Given the description of an element on the screen output the (x, y) to click on. 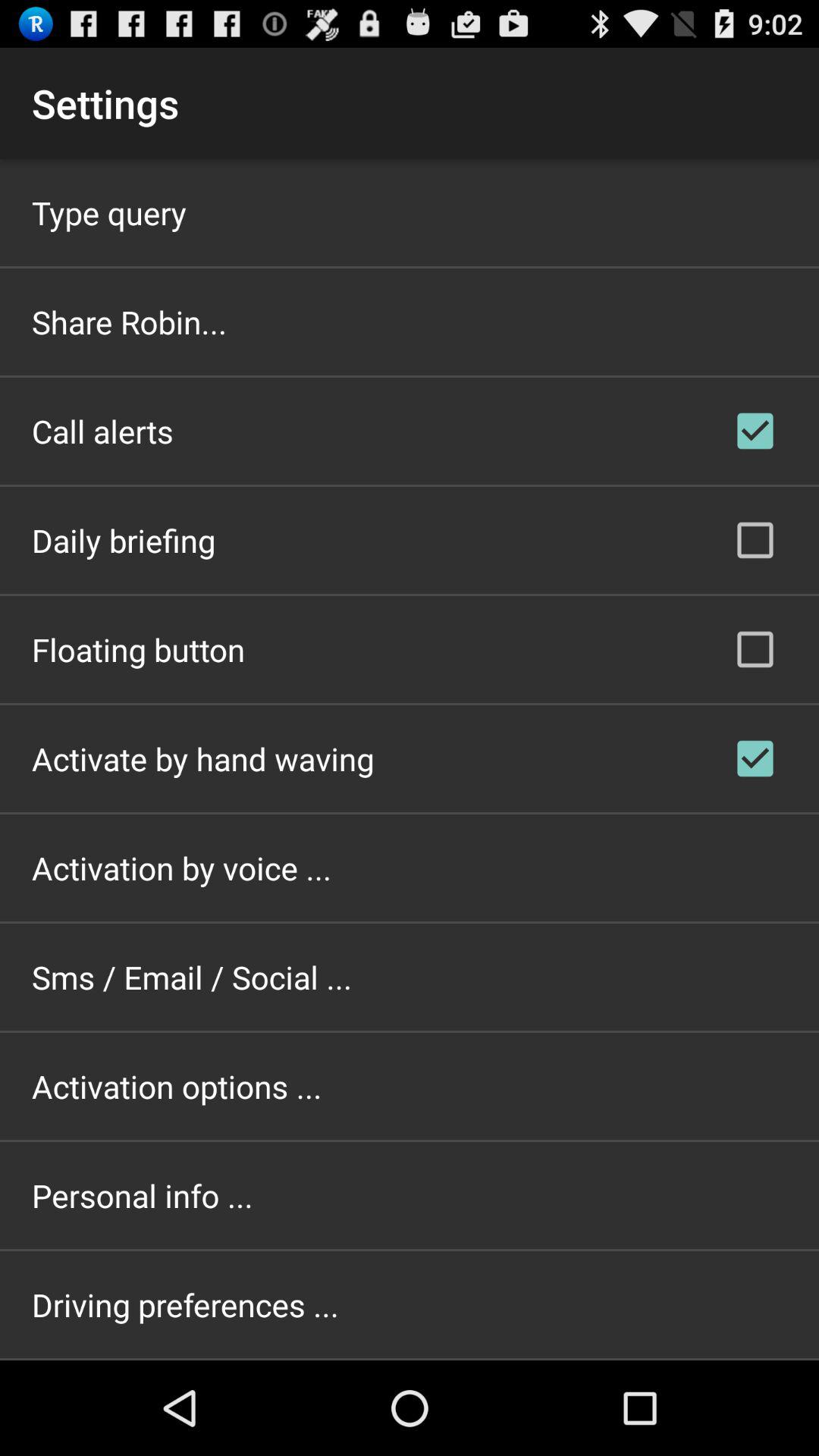
open the app above activation options ... app (191, 976)
